Given the description of an element on the screen output the (x, y) to click on. 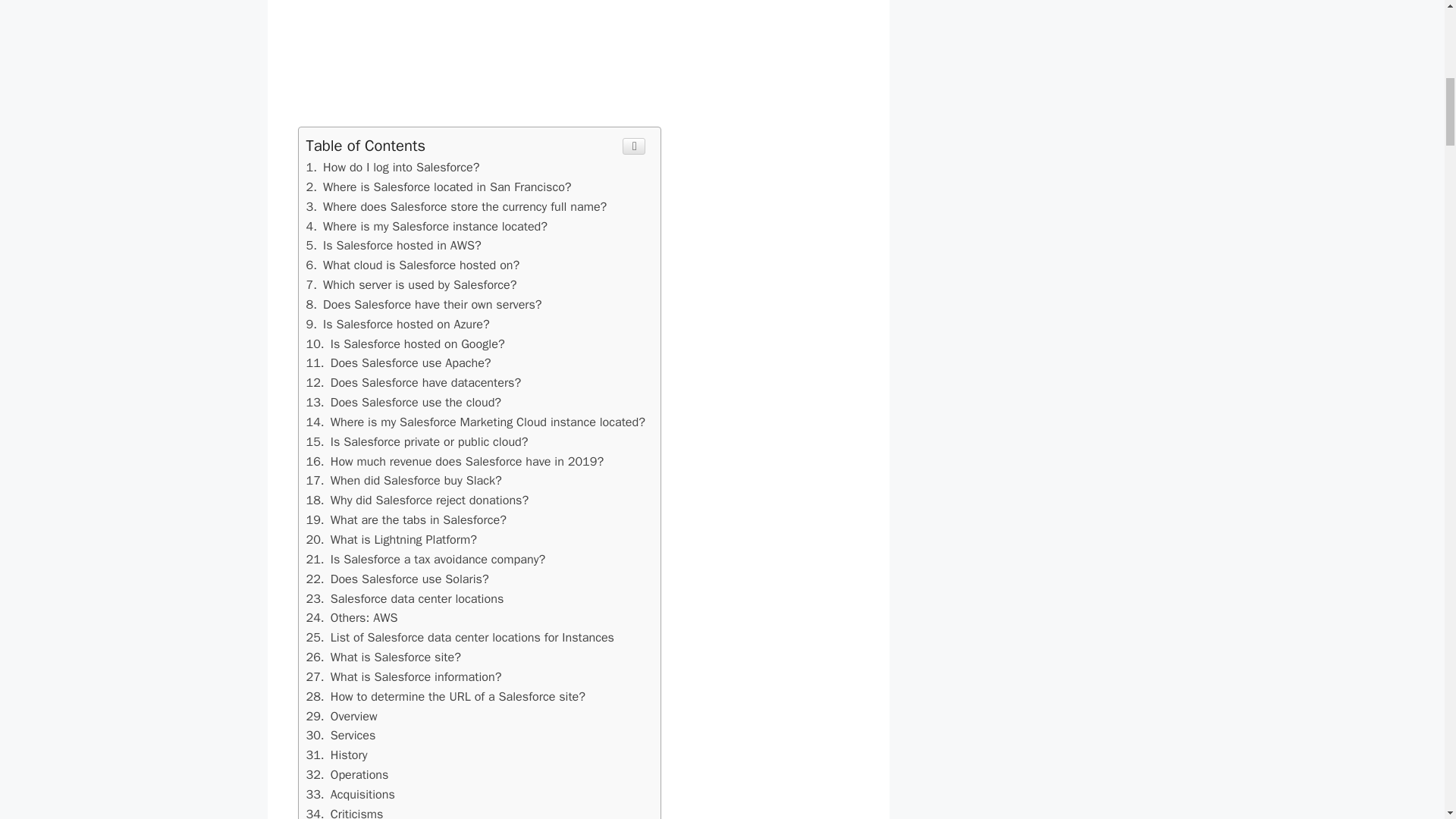
Does Salesforce use Solaris? (397, 578)
Where is my Salesforce Marketing Cloud instance located? (475, 421)
Is Salesforce hosted on Azure? (397, 324)
Overview (341, 715)
Why did Salesforce reject donations? (417, 499)
Which server is used by Salesforce? (410, 284)
Where does Salesforce store the currency full name? (393, 245)
